Given the description of an element on the screen output the (x, y) to click on. 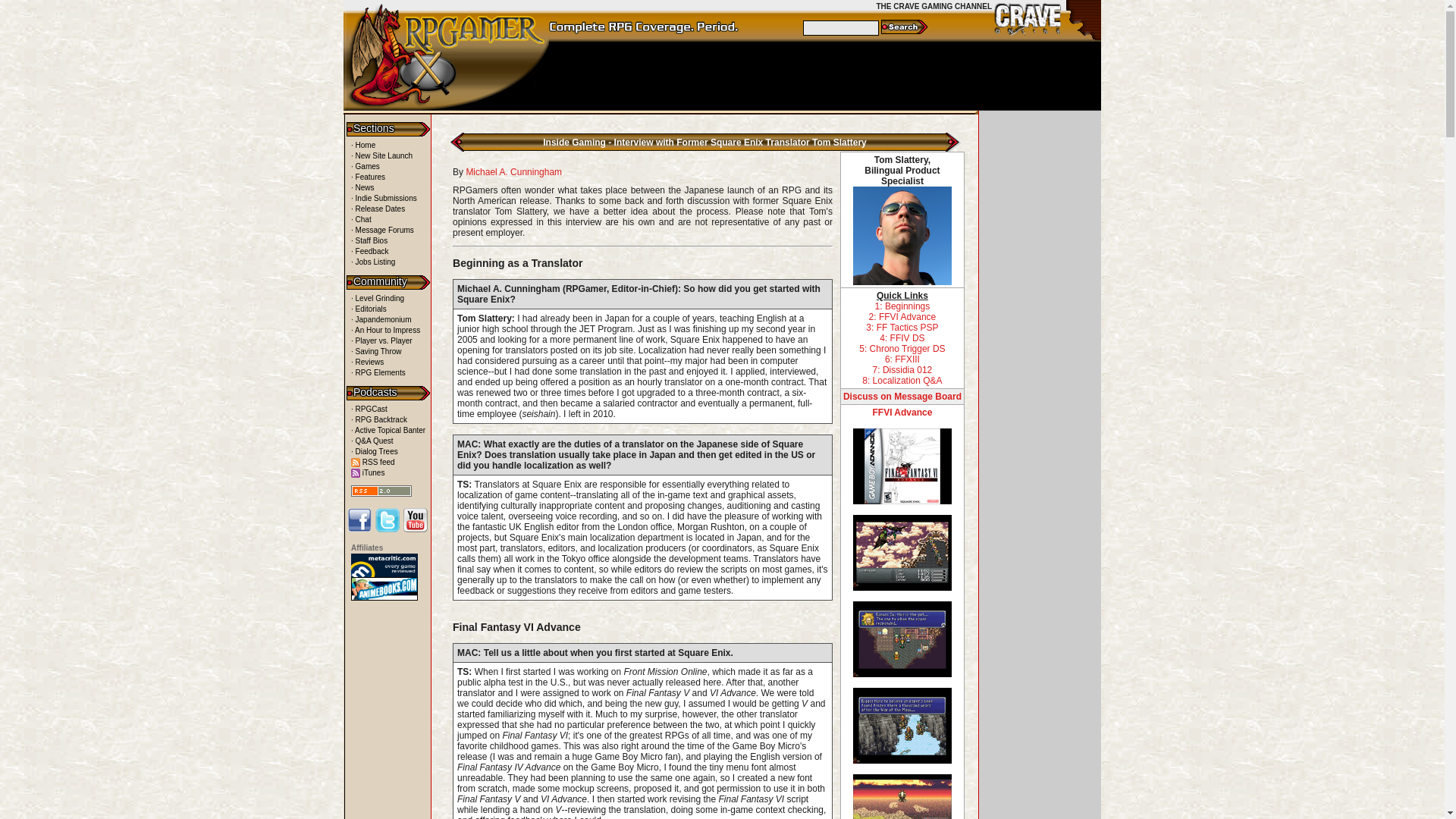
Currently Available Positions (372, 261)
Saving Throw Archives (375, 351)
RSS feed (372, 461)
1: Beginnings (902, 306)
2017 Editorials (368, 308)
An Hour to Impress - Archive (385, 329)
RPGamer On IRC (360, 219)
RPGamer (362, 144)
08.14 - Ganbare! Reina-chan (381, 319)
Quarterly News Updates (362, 187)
